Given the description of an element on the screen output the (x, y) to click on. 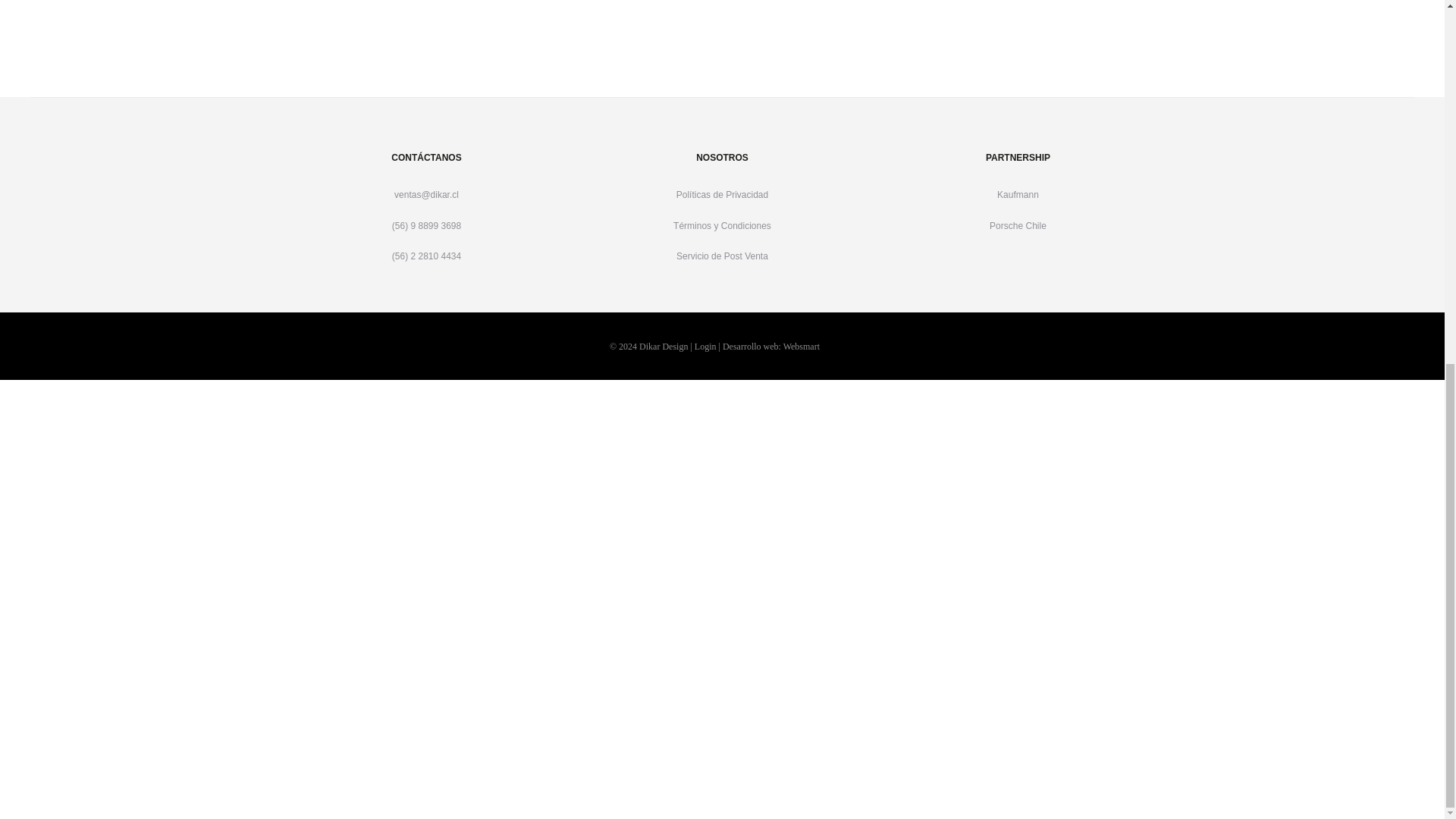
Login (705, 346)
Admin (705, 346)
Desarrollo web: Websmart (770, 346)
Login (721, 710)
Kaufmann (1018, 194)
Register (721, 745)
Porsche Chile (1018, 225)
Dikar Design (663, 346)
Servicio de Post Venta (722, 255)
